Given the description of an element on the screen output the (x, y) to click on. 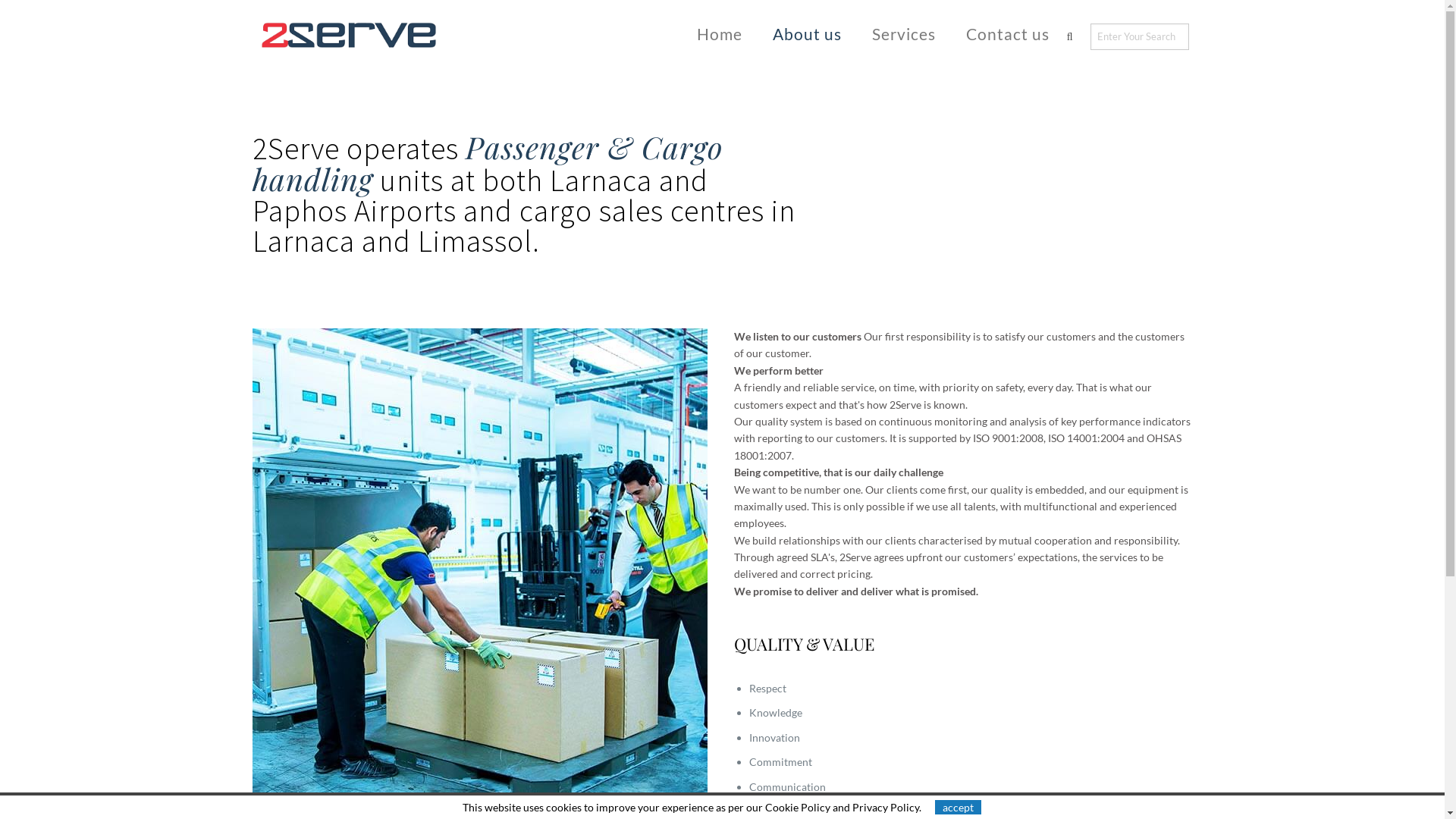
accept Element type: text (958, 807)
About us Element type: text (806, 33)
Contact us Element type: text (1007, 33)
Home Element type: text (719, 33)
Services Element type: text (903, 33)
